Given the description of an element on the screen output the (x, y) to click on. 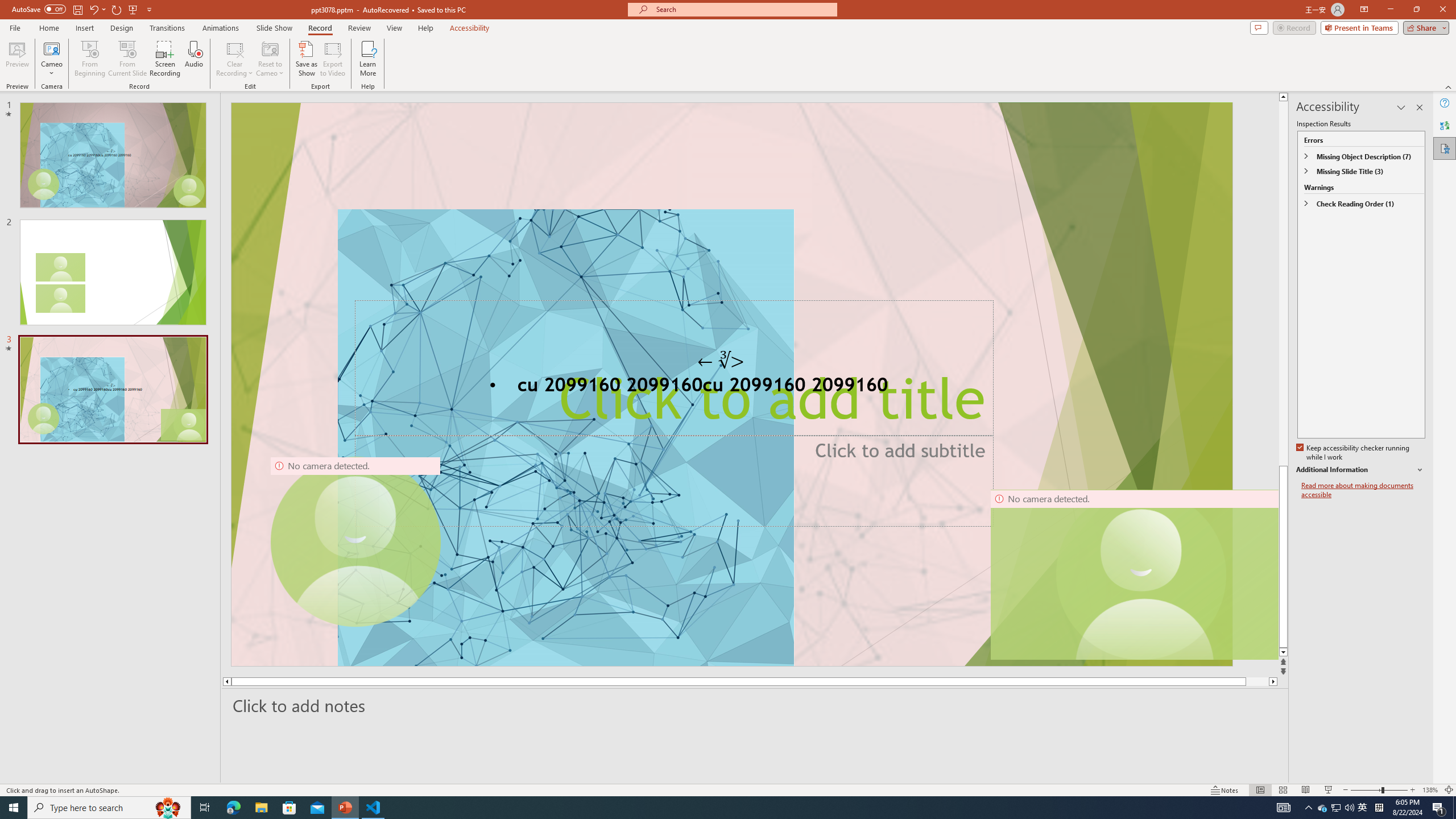
Slide (112, 389)
Quick Access Toolbar (82, 9)
Additional Information (1360, 469)
AutoSave (38, 9)
Title TextBox (673, 368)
Reading View (1305, 790)
Clear Recording (234, 58)
TextBox 61 (730, 386)
Insert (83, 28)
Minimize (1390, 9)
Transitions (167, 28)
System (6, 6)
From Beginning (133, 9)
